Given the description of an element on the screen output the (x, y) to click on. 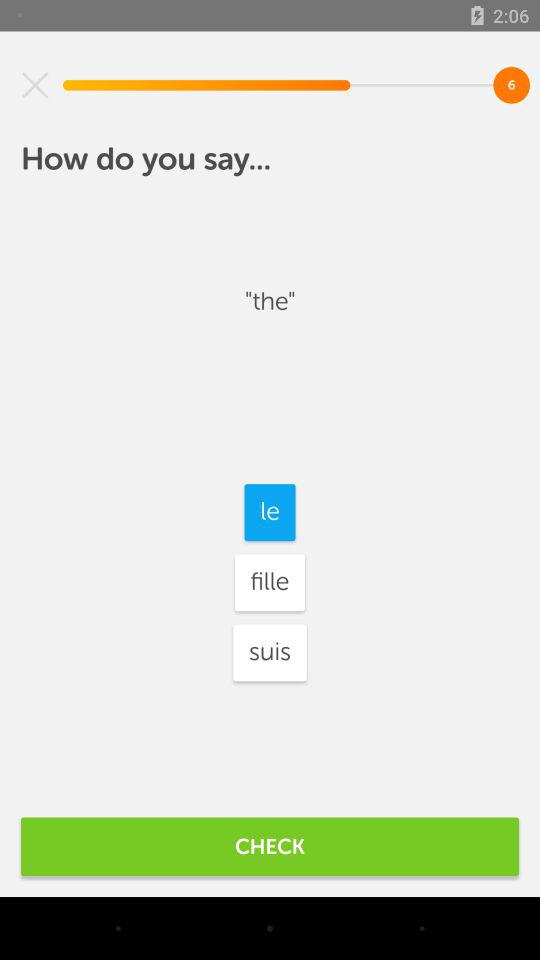
launch suis icon (269, 652)
